Given the description of an element on the screen output the (x, y) to click on. 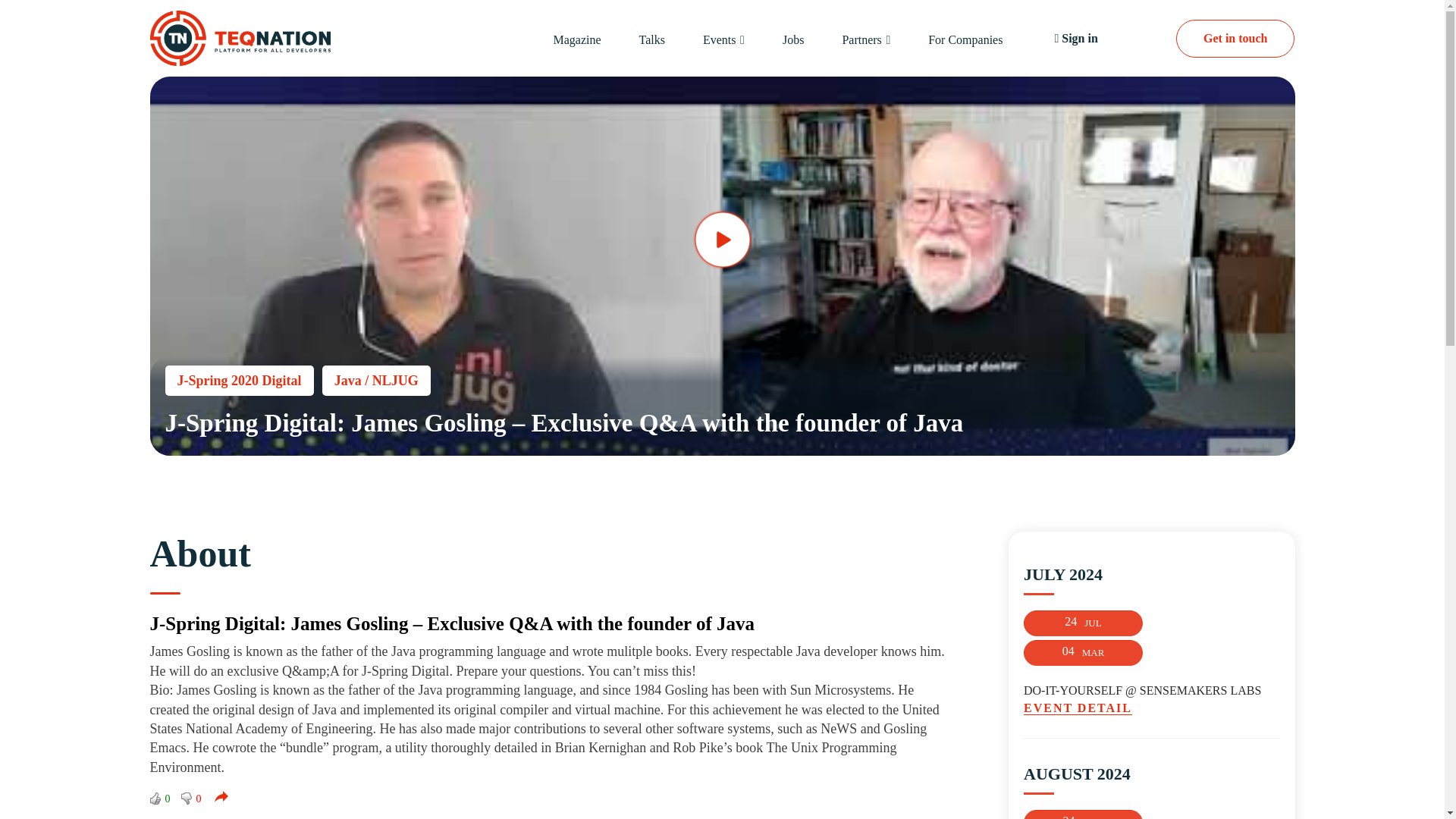
Magazine (576, 39)
Talks (652, 39)
Partners (860, 39)
J-Spring 2020 Digital (239, 380)
Jobs (793, 39)
Events (719, 39)
Get in touch (1235, 38)
For Companies (965, 39)
EVENT DETAIL (1151, 707)
Sign in (1075, 38)
